Given the description of an element on the screen output the (x, y) to click on. 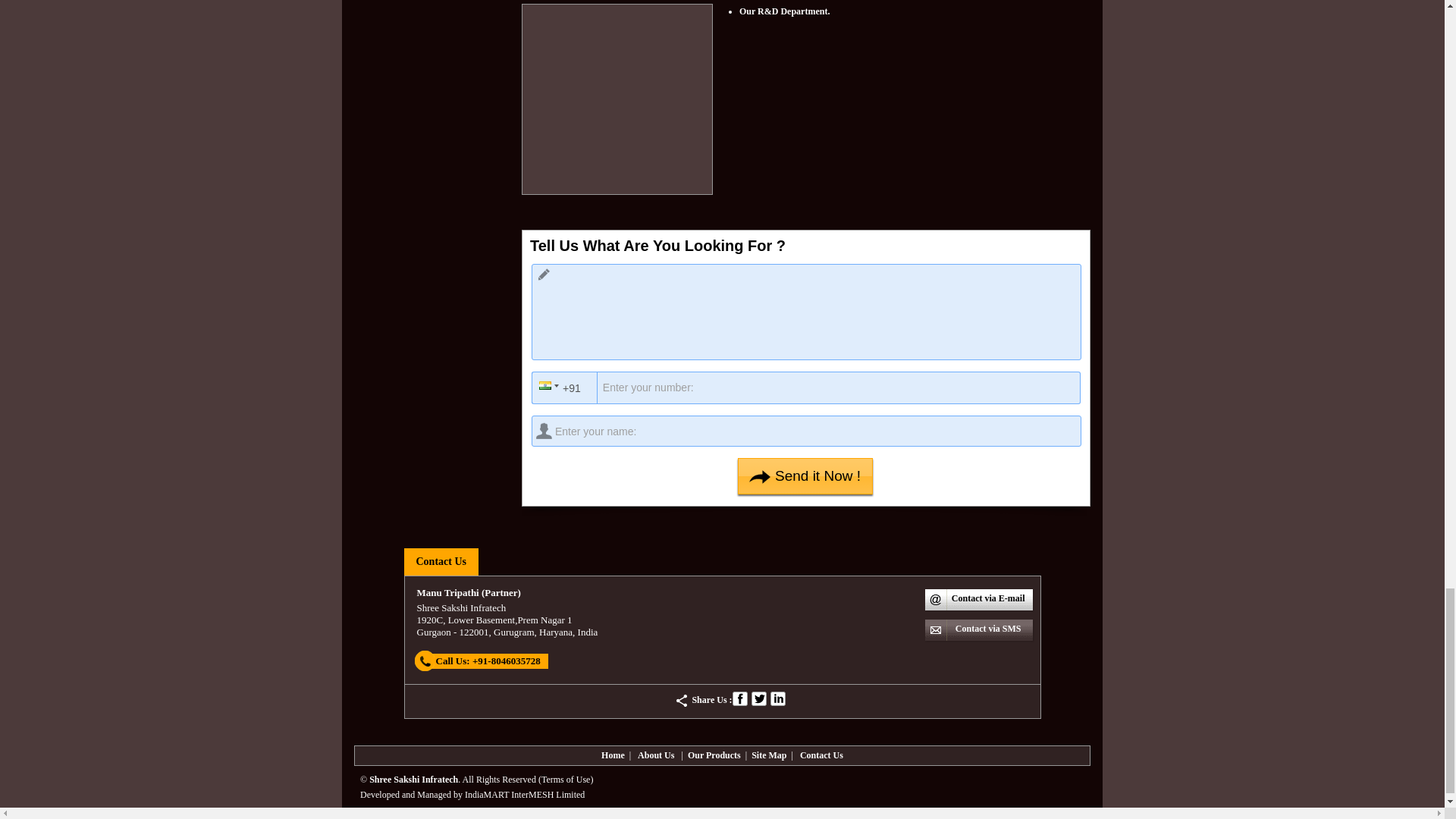
Send it Now ! (805, 475)
Enter your number: (810, 387)
Send it Now ! (805, 475)
Enter your name: (806, 430)
